Given the description of an element on the screen output the (x, y) to click on. 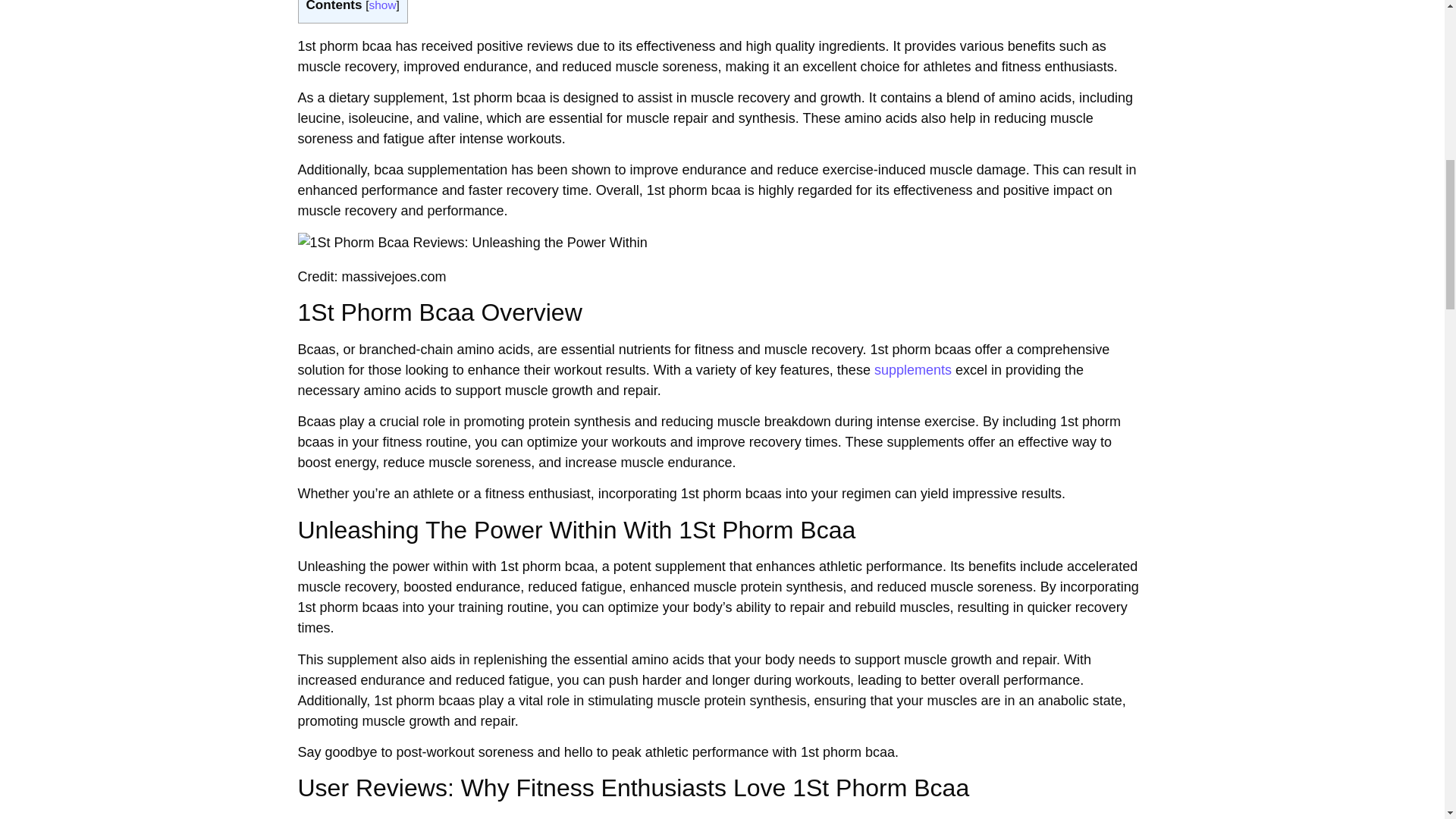
supplements (913, 369)
